Given the description of an element on the screen output the (x, y) to click on. 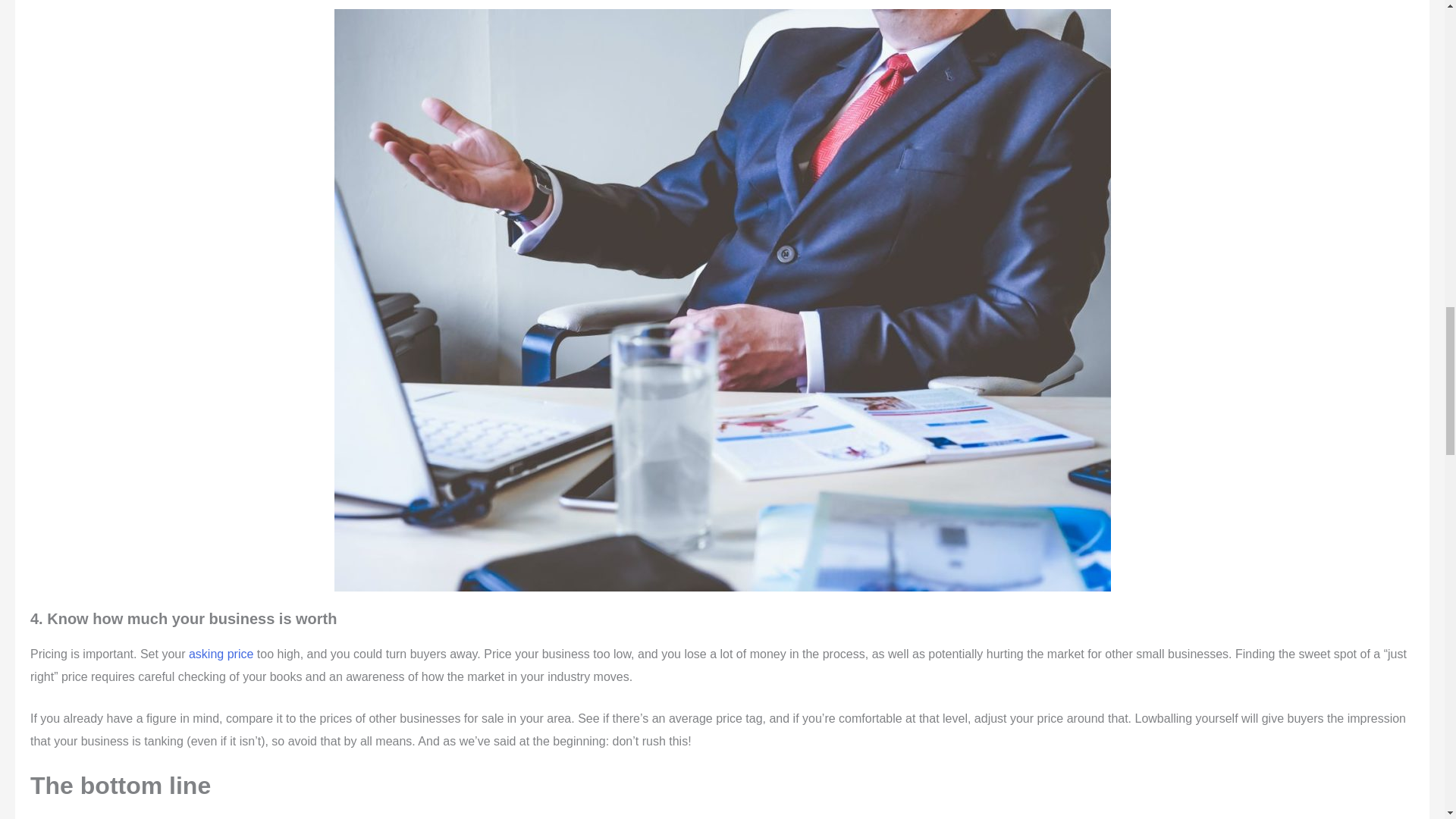
asking price (221, 653)
